Given the description of an element on the screen output the (x, y) to click on. 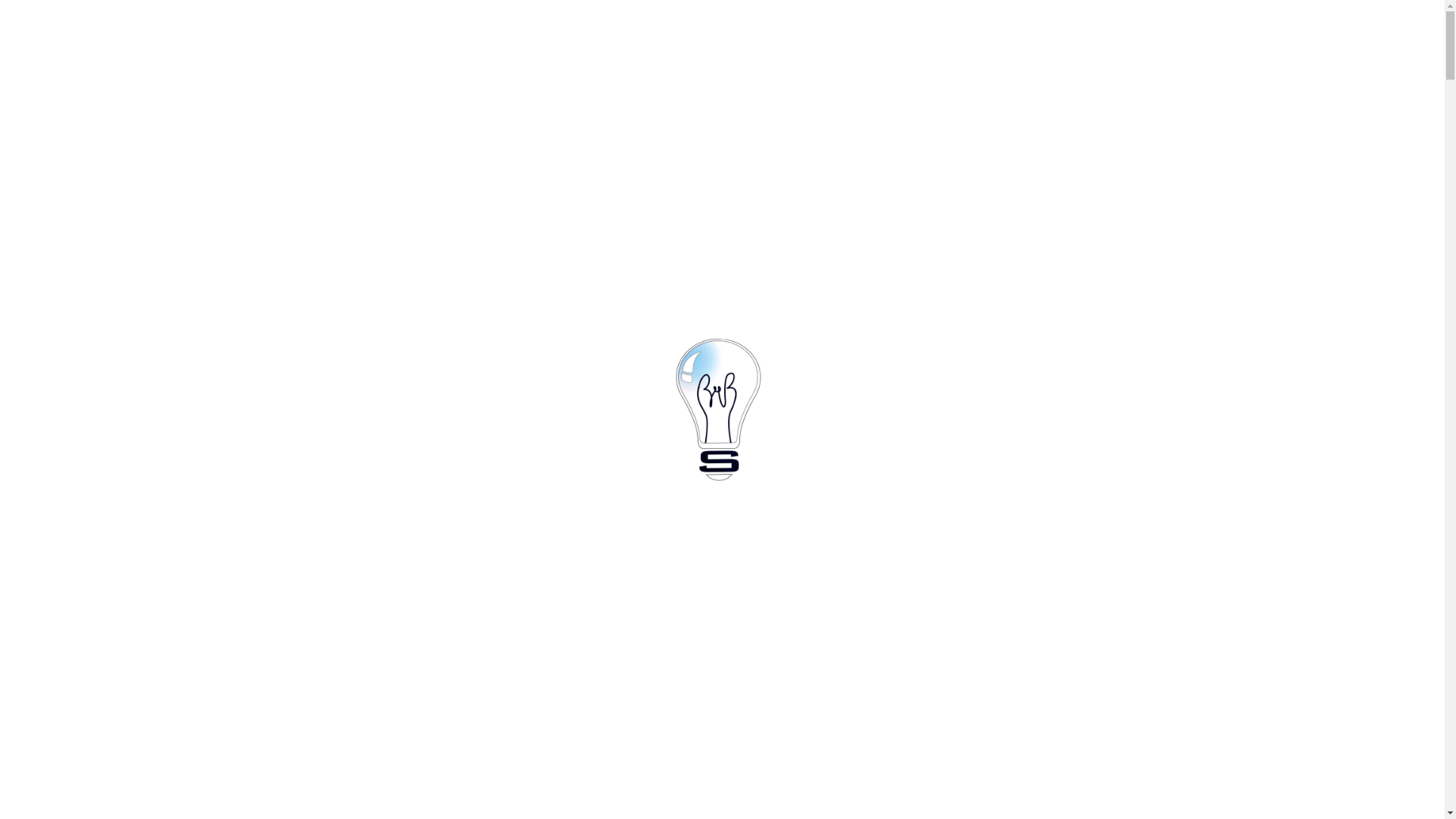
Nos services Element type: text (1091, 35)
Escaliers Element type: text (150, 112)
Placement Element type: text (1239, 35)
Contacts Element type: text (1407, 35)
Escaliers Element type: text (219, 167)
Nos valeurs Element type: text (1168, 35)
Conext Architectes Element type: text (228, 295)
Terrasses et balcons Element type: text (298, 167)
Concept Ecologis Element type: text (297, 273)
